Given the description of an element on the screen output the (x, y) to click on. 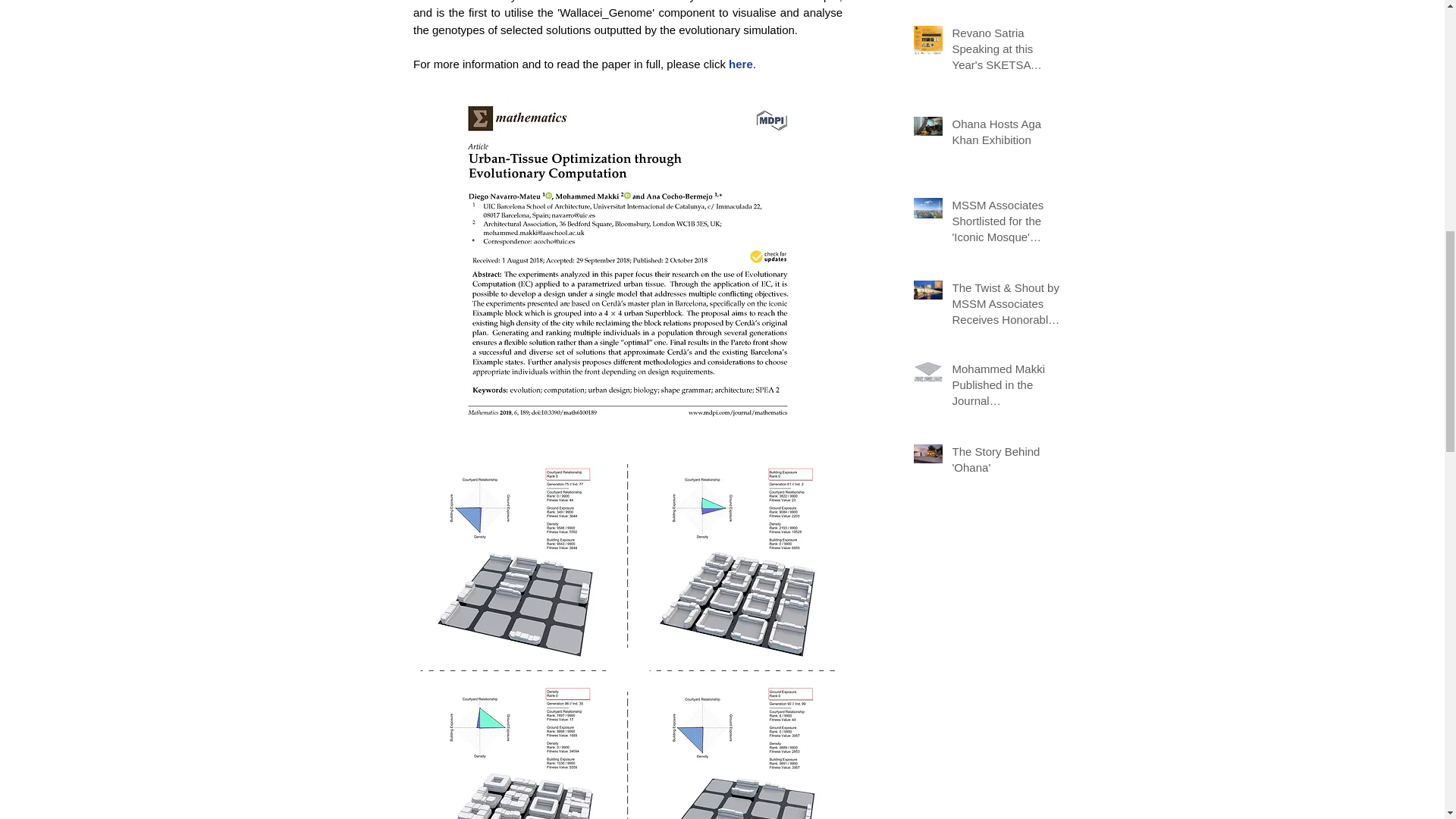
The Story Behind 'Ohana' (1006, 462)
Mohammed Makki Published in the Journal 'Mathematics' (1006, 387)
here (740, 63)
Ohana Hosts Aga Khan Exhibition (1006, 134)
